Given the description of an element on the screen output the (x, y) to click on. 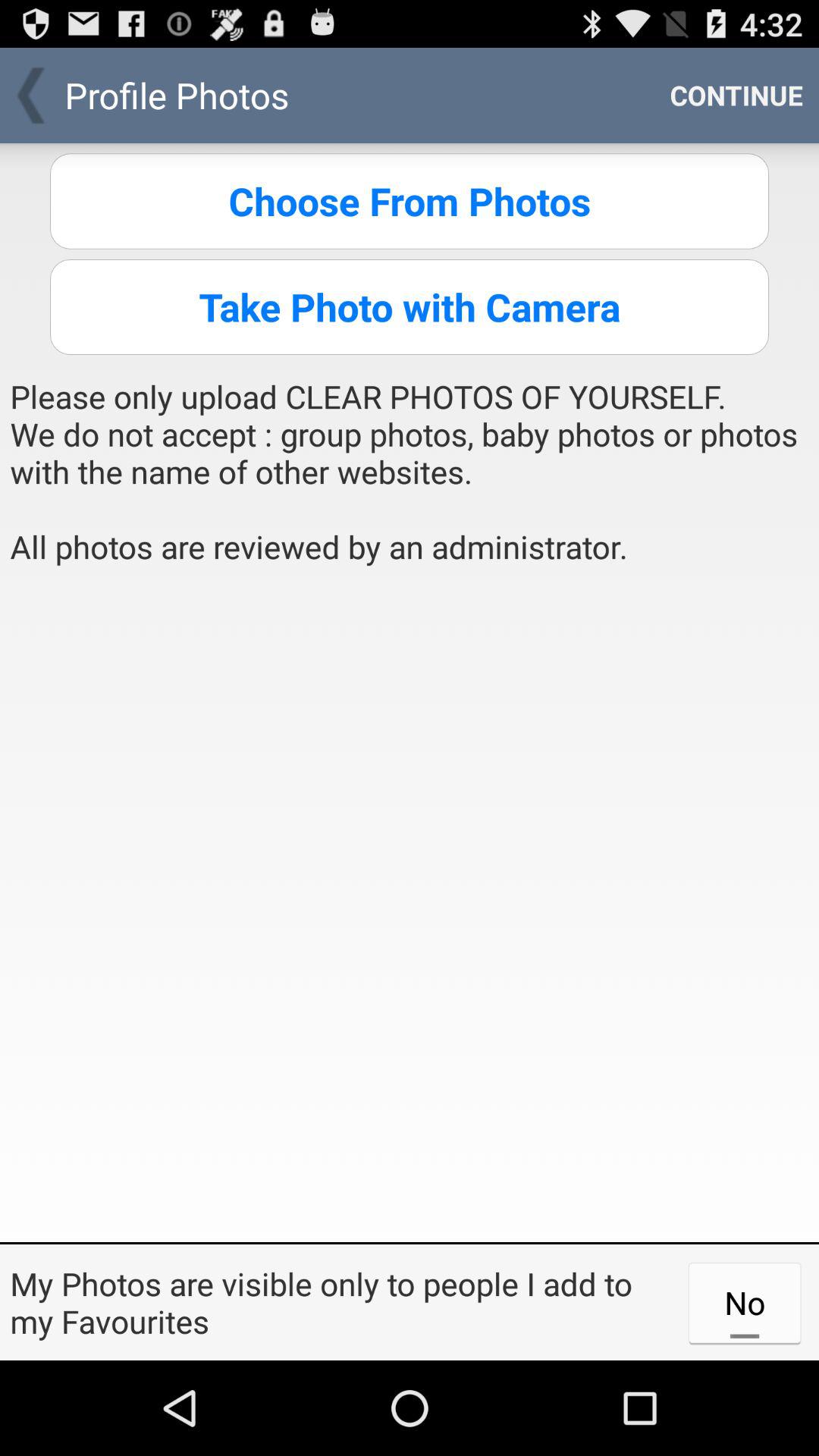
tap the icon above the please only upload (409, 306)
